Given the description of an element on the screen output the (x, y) to click on. 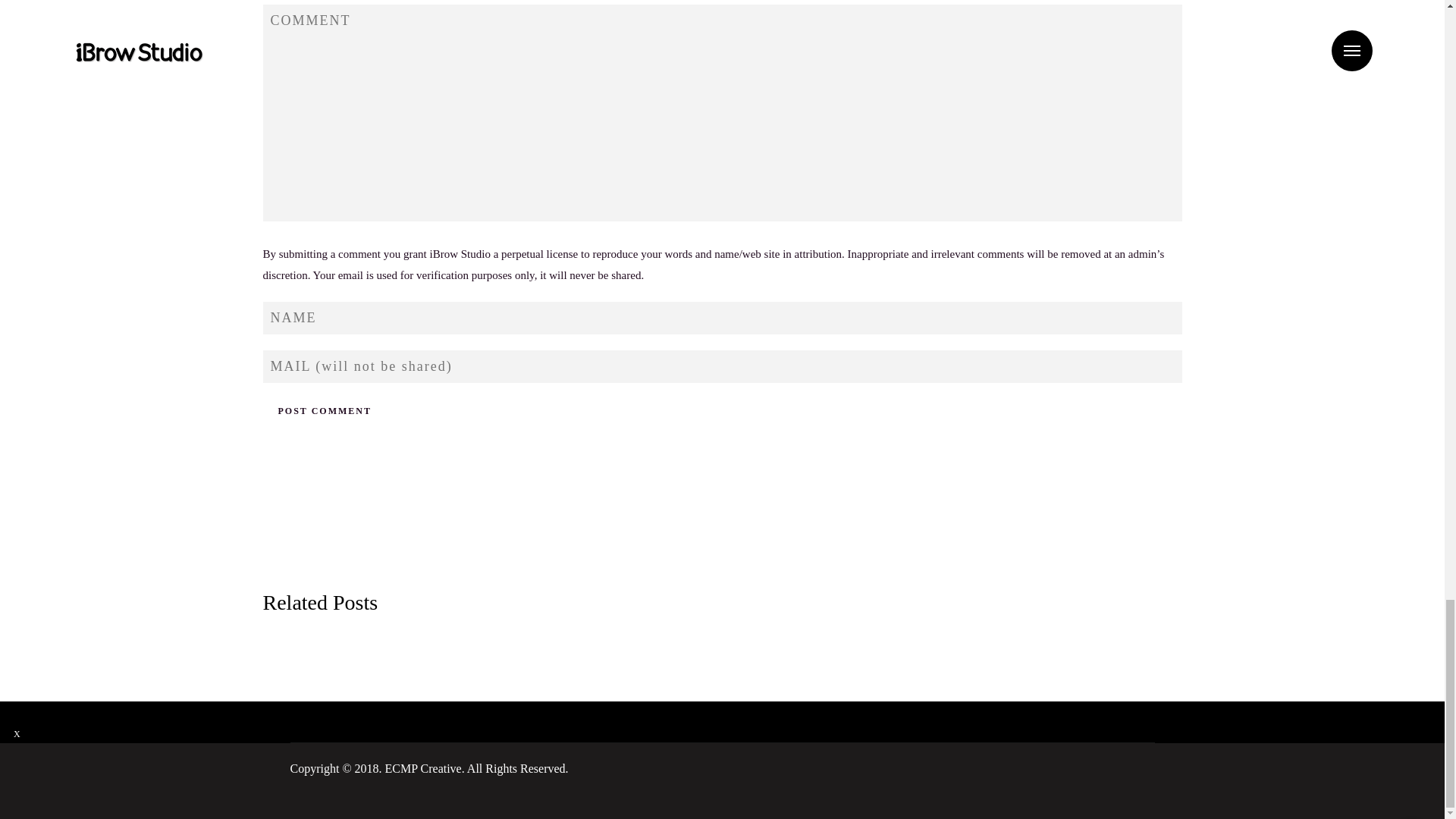
Post Comment (323, 410)
Post Comment (323, 410)
